Given the description of an element on the screen output the (x, y) to click on. 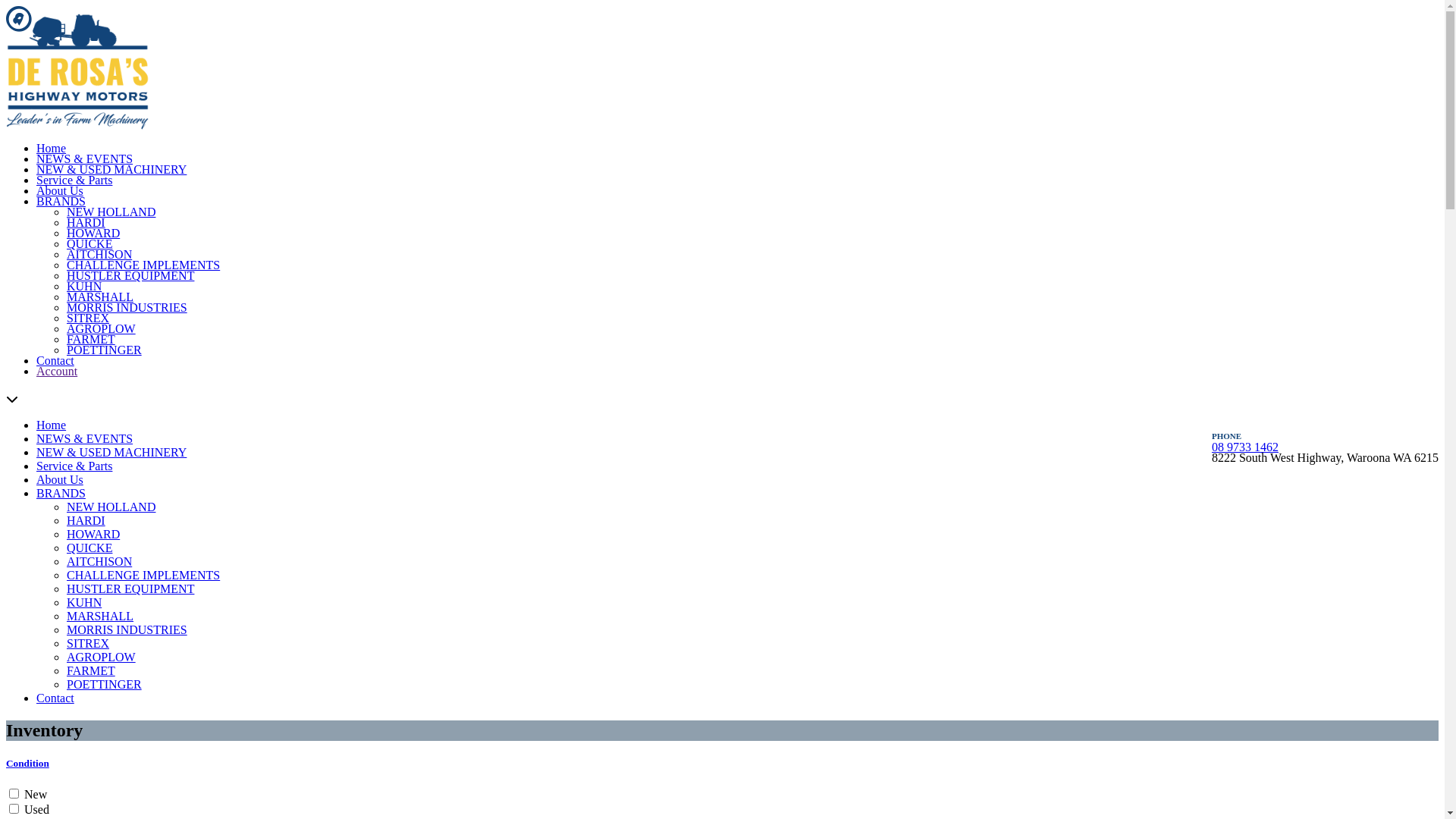
Condition Element type: text (722, 763)
KUHN Element type: text (83, 602)
MORRIS INDUSTRIES Element type: text (126, 629)
NEWS & EVENTS Element type: text (84, 158)
KUHN Element type: text (83, 285)
AGROPLOW Element type: text (100, 328)
Account Element type: text (56, 370)
POETTINGER Element type: text (103, 683)
QUICKE Element type: text (89, 243)
MARSHALL Element type: text (99, 615)
SITREX Element type: text (87, 317)
NEW & USED MACHINERY Element type: text (111, 451)
HOWARD Element type: text (92, 533)
Home Element type: text (50, 147)
Contact Element type: text (55, 697)
Service & Parts Element type: text (74, 179)
FARMET Element type: text (90, 338)
NEW & USED MACHINERY Element type: text (111, 169)
CHALLENGE IMPLEMENTS Element type: text (142, 574)
MORRIS INDUSTRIES Element type: text (126, 307)
Contact Element type: text (55, 360)
POETTINGER Element type: text (103, 349)
HOWARD Element type: text (92, 232)
HUSTLER EQUIPMENT Element type: text (130, 275)
AITCHISON Element type: text (98, 253)
NEWS & EVENTS Element type: text (84, 438)
BRANDS Element type: text (60, 492)
FARMET Element type: text (90, 670)
AITCHISON Element type: text (98, 561)
MARSHALL Element type: text (99, 296)
Service & Parts Element type: text (74, 465)
HARDI Element type: text (85, 520)
HUSTLER EQUIPMENT Element type: text (130, 588)
08 9733 1462 Element type: text (1244, 446)
CHALLENGE IMPLEMENTS Element type: text (142, 264)
About Us Element type: text (59, 479)
BRANDS Element type: text (60, 200)
HARDI Element type: text (85, 222)
SITREX Element type: text (87, 643)
QUICKE Element type: text (89, 547)
About Us Element type: text (59, 190)
Home Element type: text (50, 424)
NEW HOLLAND Element type: text (110, 506)
AGROPLOW Element type: text (100, 656)
NEW HOLLAND Element type: text (110, 211)
Home Element type: hover (81, 71)
